Given the description of an element on the screen output the (x, y) to click on. 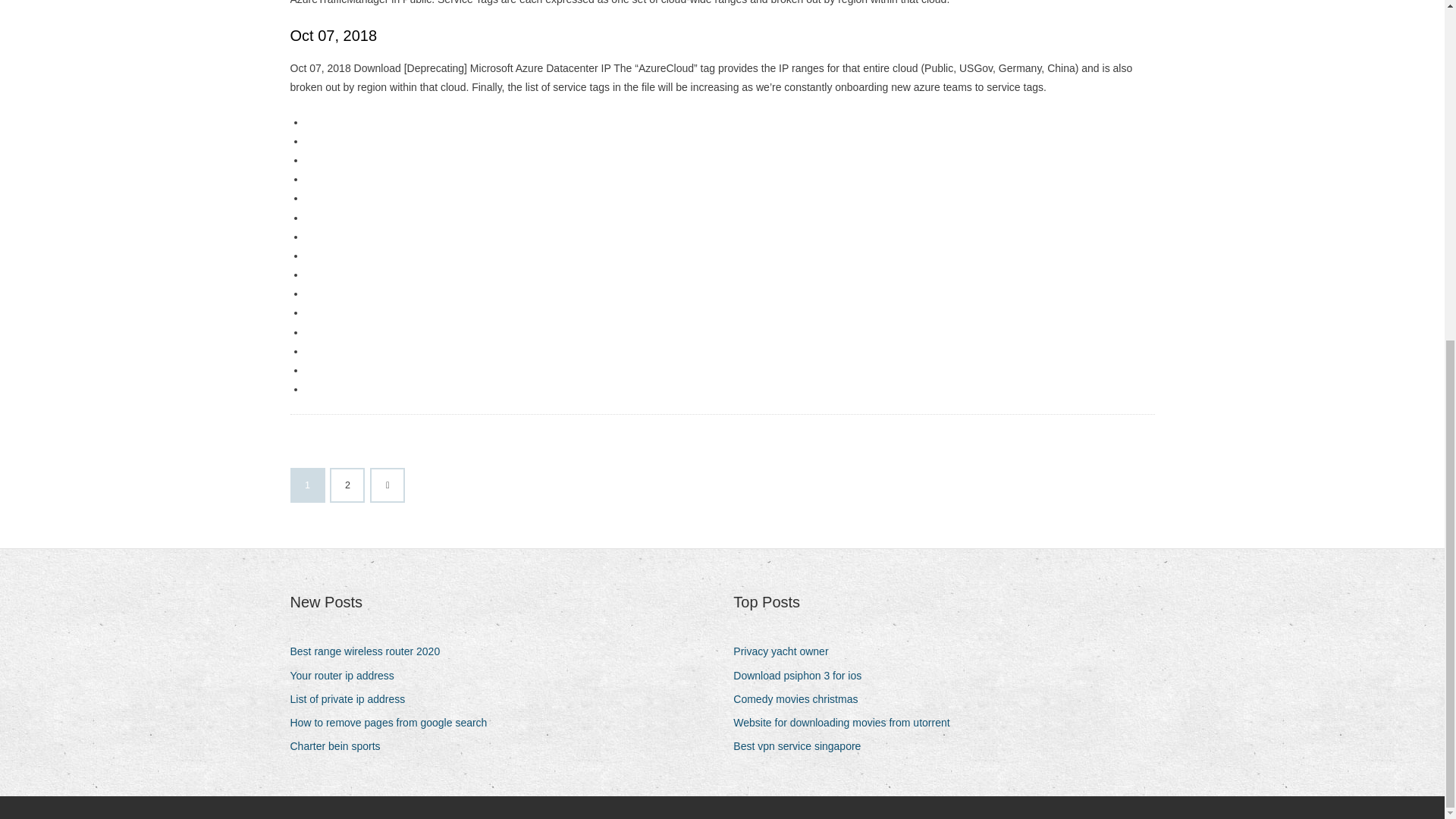
Comedy movies christmas (801, 699)
List of private ip address (352, 699)
Privacy yacht owner (786, 651)
Website for downloading movies from utorrent (846, 722)
Your router ip address (346, 675)
2 (346, 485)
Charter bein sports (340, 746)
Best vpn service singapore (802, 746)
Best range wireless router 2020 (370, 651)
How to remove pages from google search (393, 722)
